Given the description of an element on the screen output the (x, y) to click on. 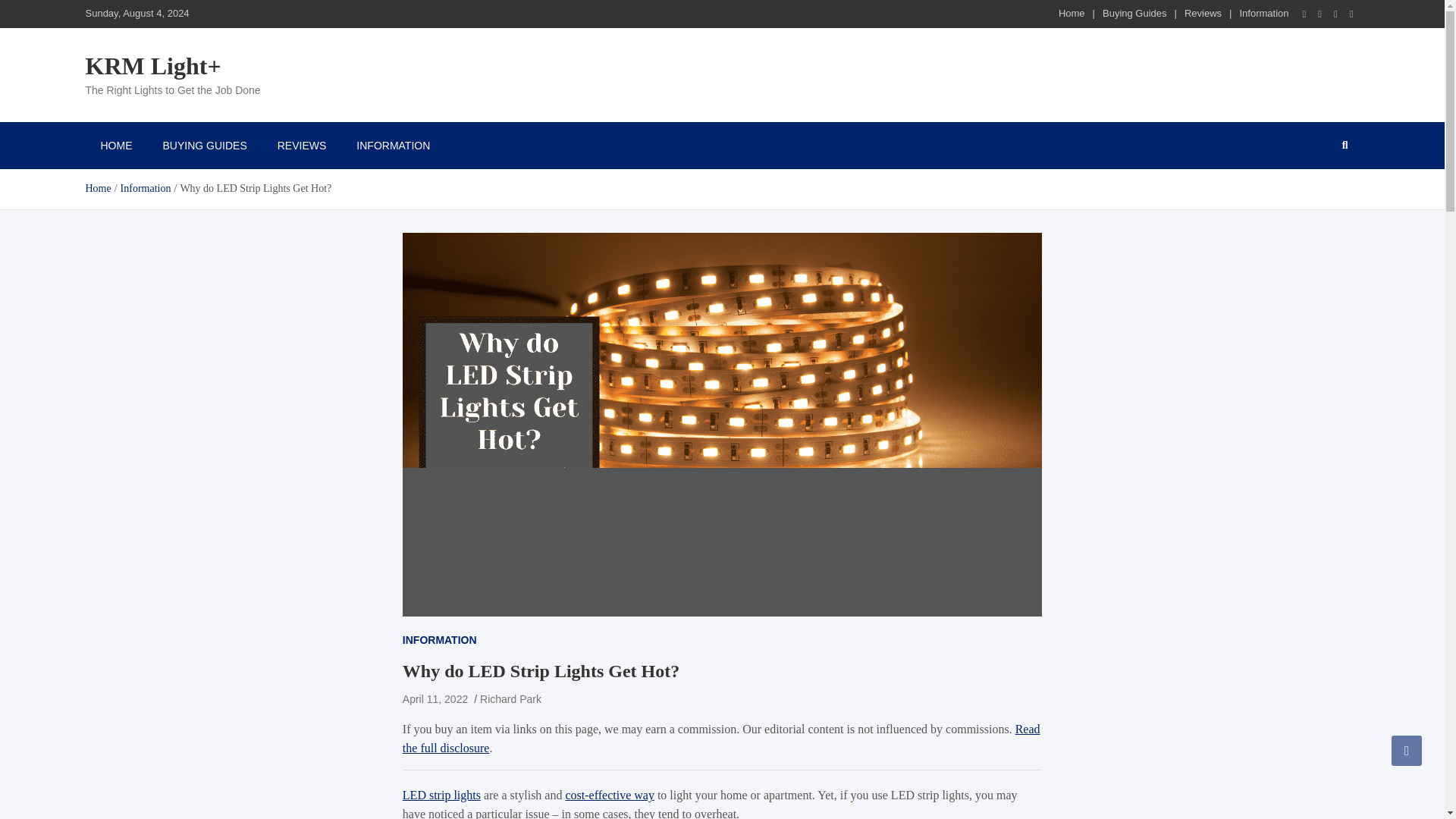
INFORMATION (392, 145)
cost-effective way (608, 794)
Reviews (1203, 12)
Home (97, 188)
Home (1071, 12)
Go to Top (1406, 750)
Richard Park (510, 698)
April 11, 2022 (435, 698)
INFORMATION (440, 639)
LED strip lights (441, 794)
Why do LED Strip Lights Get Hot? (435, 698)
HOME (115, 145)
Information (1263, 12)
REVIEWS (302, 145)
BUYING GUIDES (204, 145)
